Given the description of an element on the screen output the (x, y) to click on. 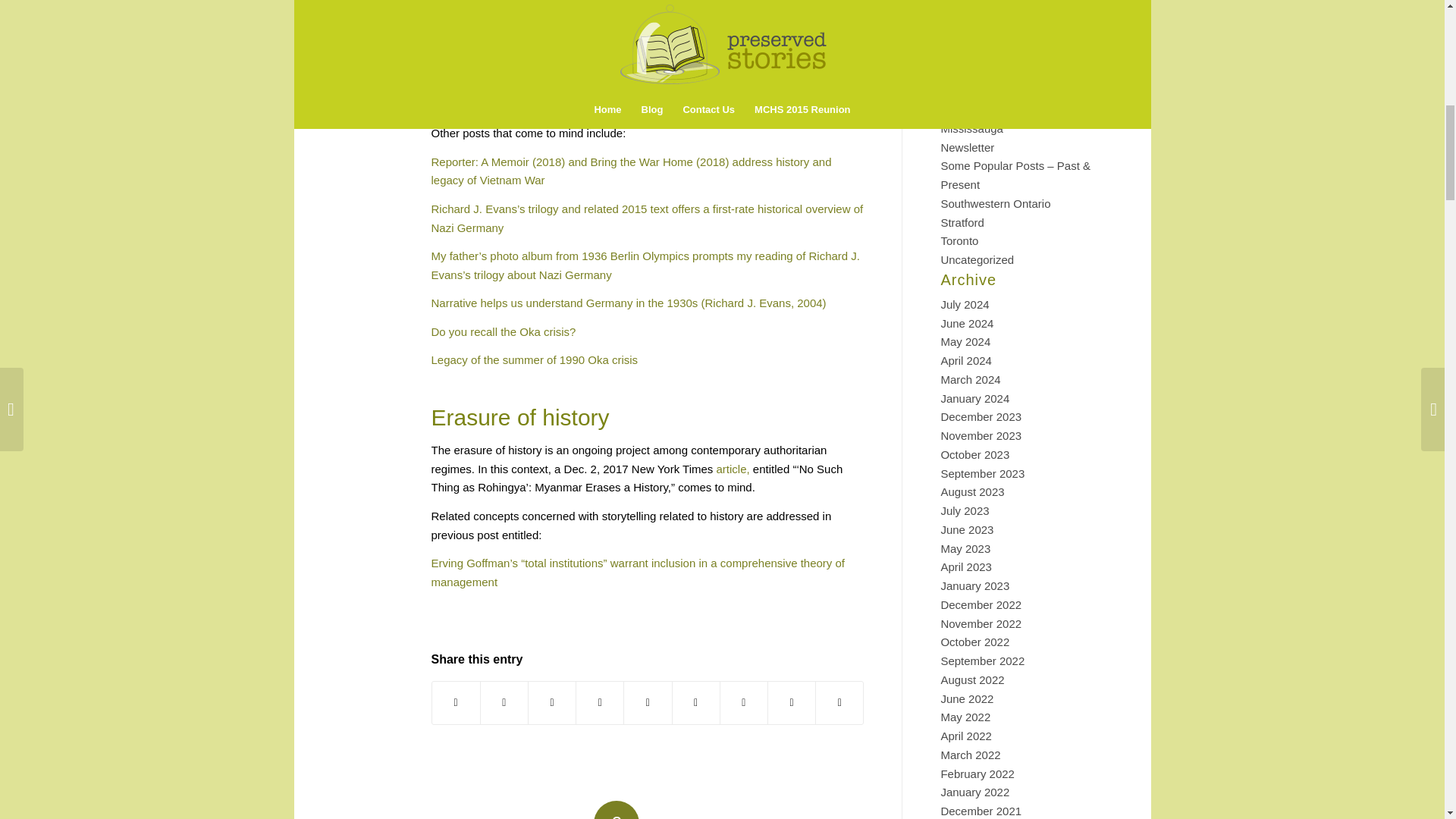
Legacy of the summer of 1990 Oka crisis (533, 359)
Do you recall the Oka crisis? (502, 331)
article, (732, 468)
